Given the description of an element on the screen output the (x, y) to click on. 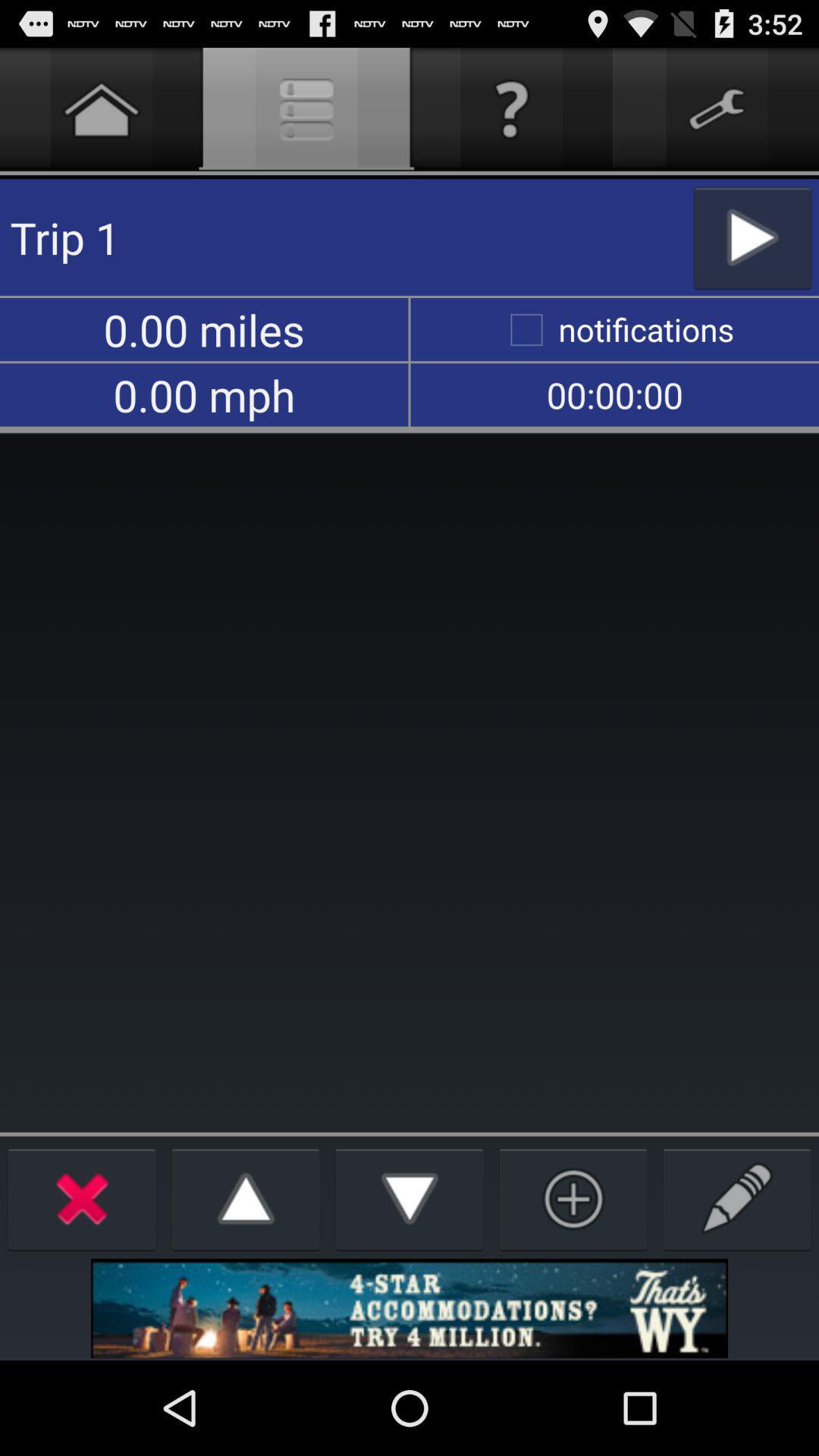
move screen down (409, 1198)
